Given the description of an element on the screen output the (x, y) to click on. 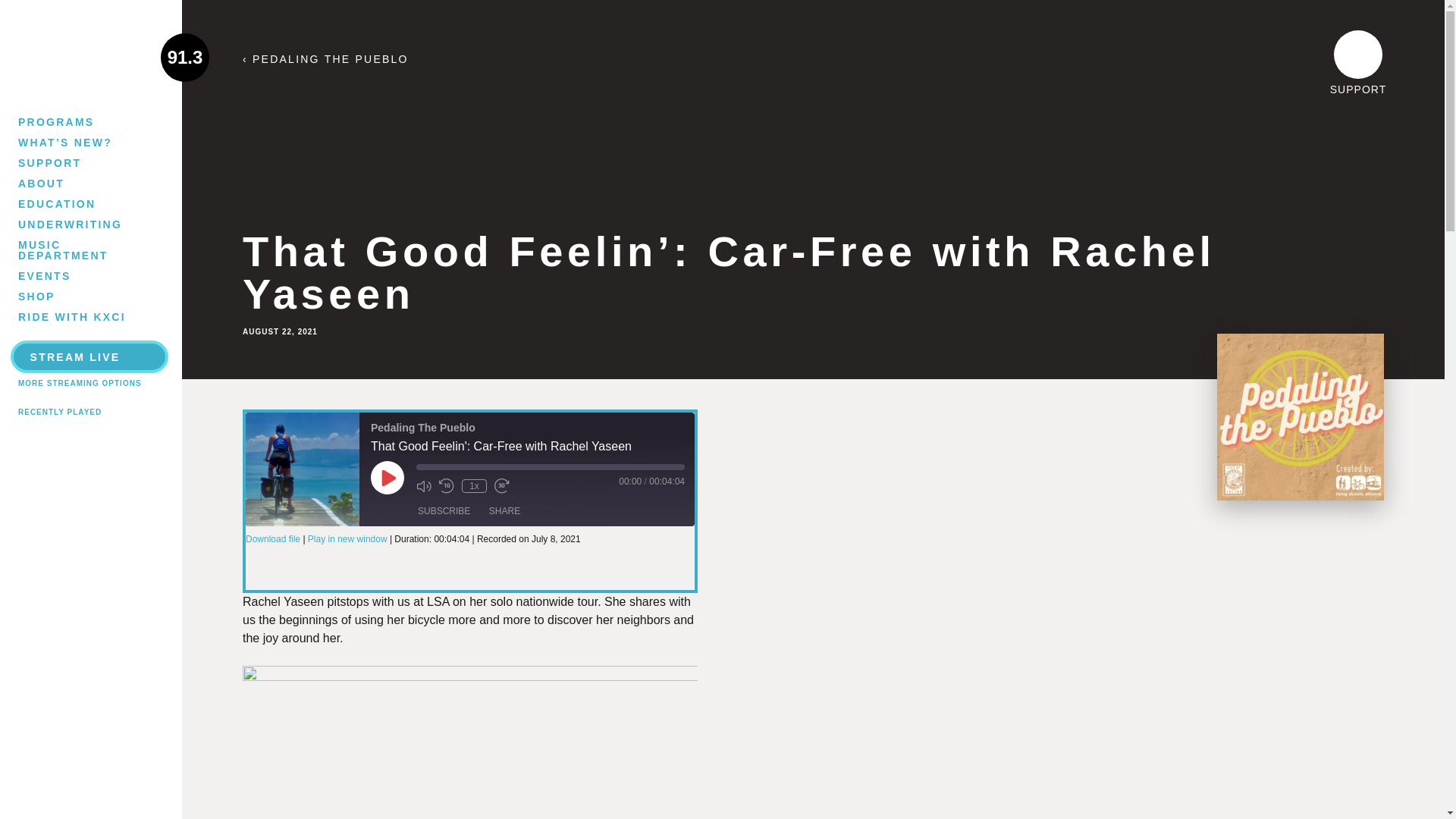
PROGRAMS (72, 121)
MORE STREAMING OPTIONS (79, 383)
Seek (550, 467)
Home (90, 57)
SHARE (504, 510)
91.3 (90, 57)
Play (387, 477)
RIDE WITH KXCI (72, 316)
EVENTS (72, 275)
SUBSCRIBE (443, 510)
Share (504, 510)
Subscribe (443, 510)
SUPPORT (1358, 63)
UNDERWRITING (72, 223)
SUPPORT (72, 162)
